Given the description of an element on the screen output the (x, y) to click on. 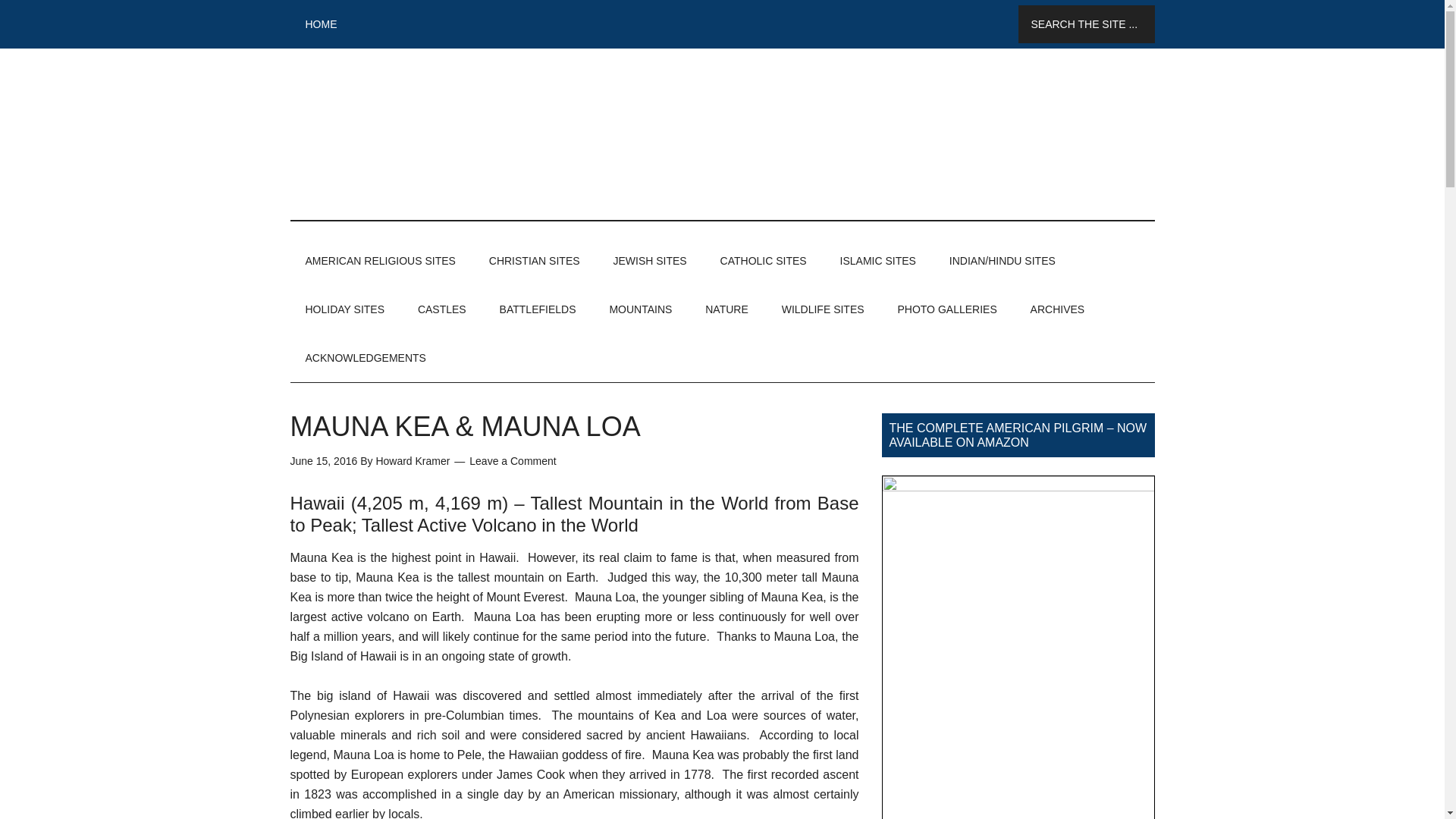
HOME (320, 24)
Leave a Comment (512, 460)
CHRISTIAN SITES (534, 260)
AMERICAN RELIGIOUS SITES (379, 260)
ISLAMIC SITES (878, 260)
CATHOLIC SITES (763, 260)
Howard Kramer (412, 460)
PHOTO GALLERIES (946, 309)
ARCHIVES (1057, 309)
